Given the description of an element on the screen output the (x, y) to click on. 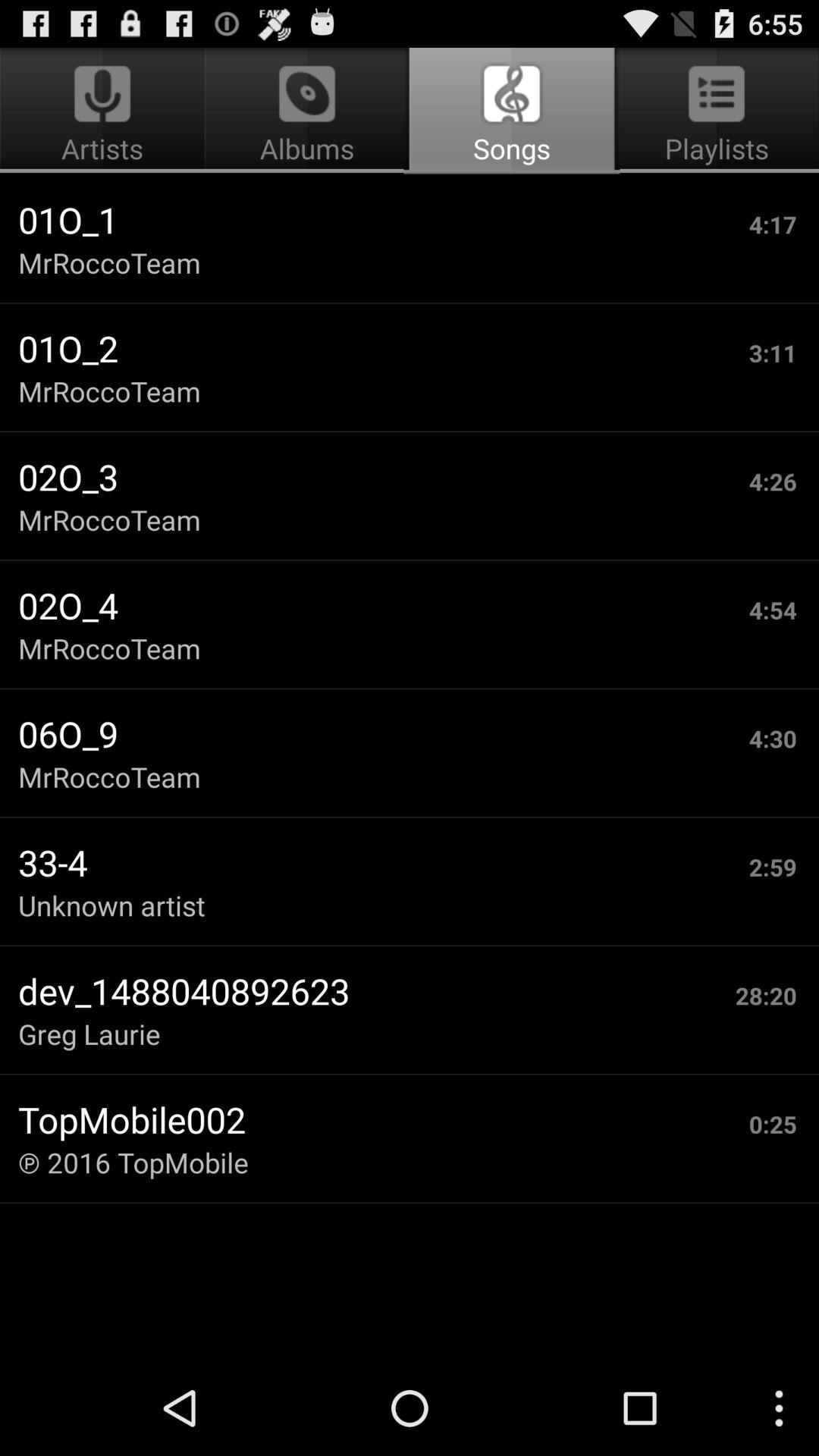
press the app next to albums icon (713, 111)
